Given the description of an element on the screen output the (x, y) to click on. 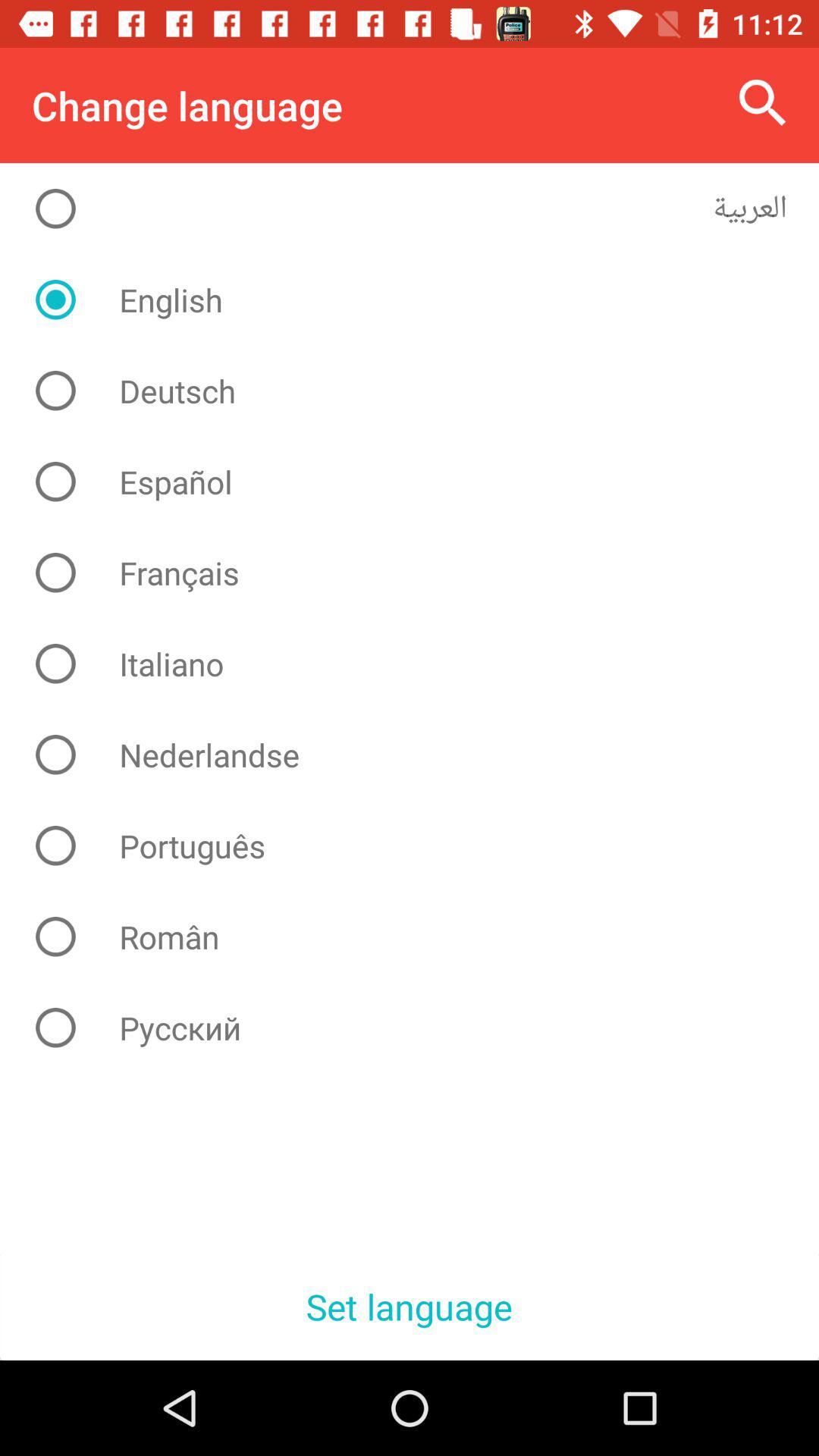
flip until the deutsch item (421, 390)
